Given the description of an element on the screen output the (x, y) to click on. 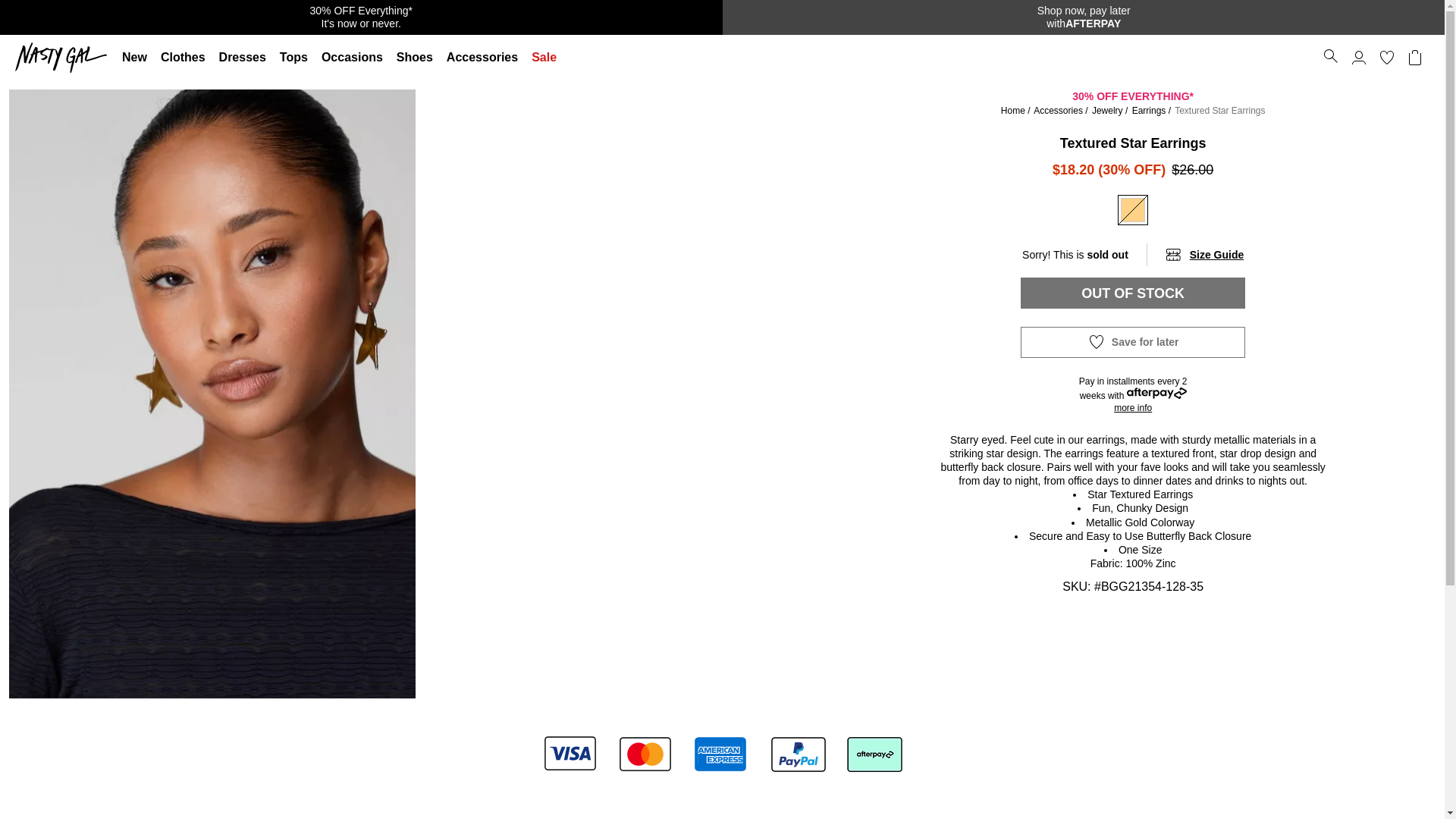
Nasty Gal (1082, 17)
Wish List (64, 57)
Clothes (1386, 57)
Search (183, 57)
